Given the description of an element on the screen output the (x, y) to click on. 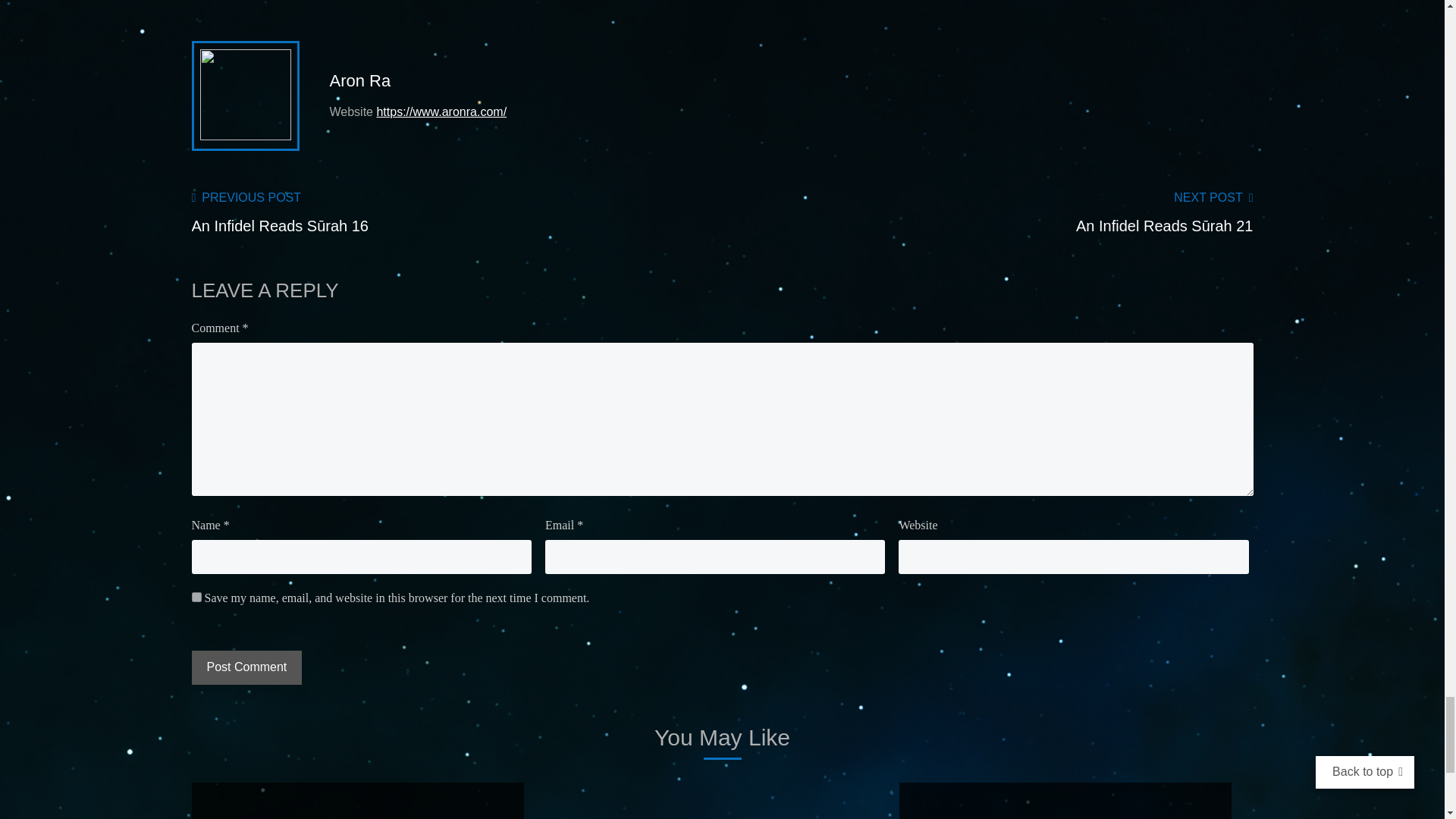
yes (195, 596)
Posts by Aron Ra (359, 80)
Post Comment (245, 667)
